Given the description of an element on the screen output the (x, y) to click on. 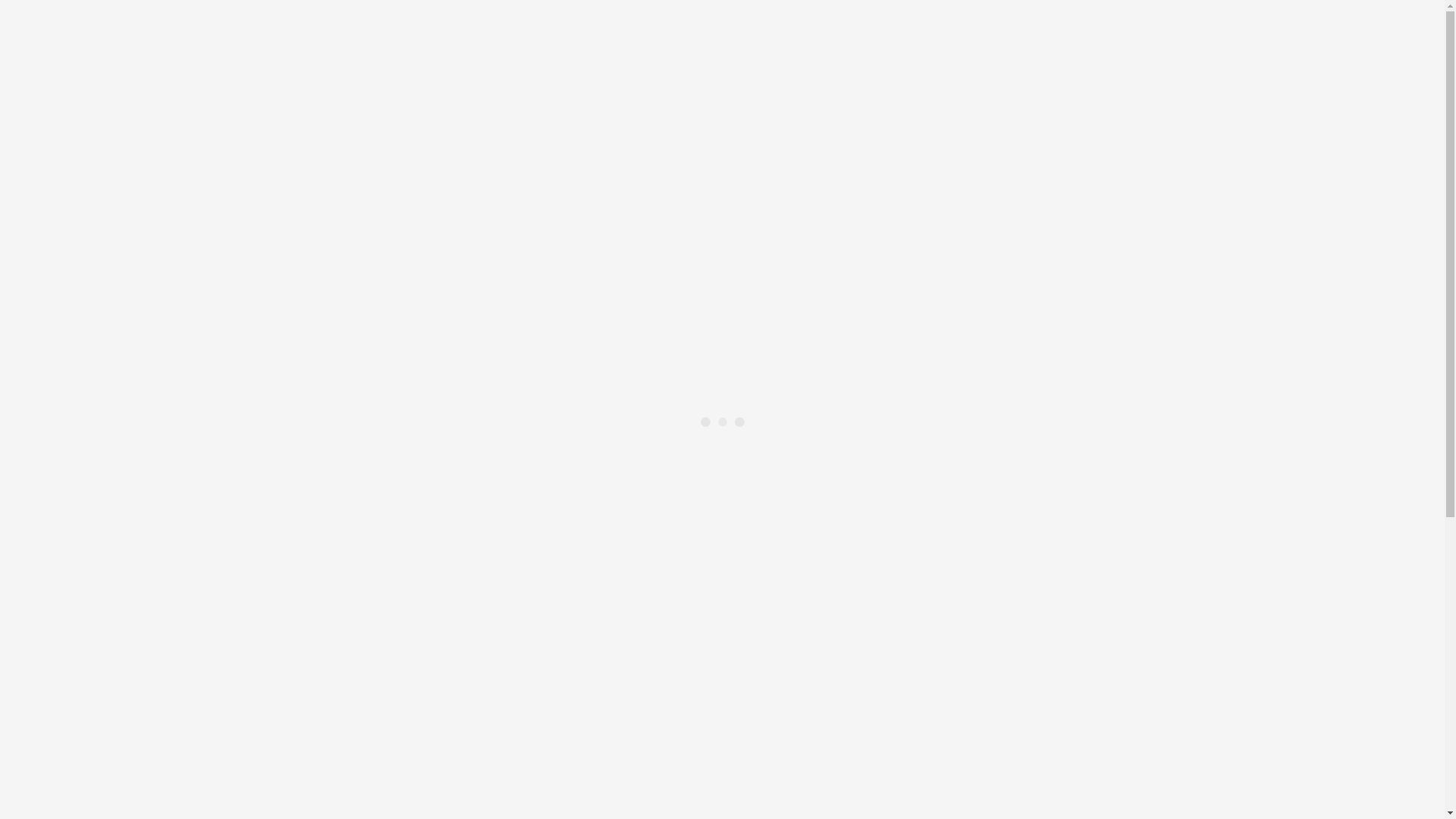
PLAN DE LA COMMUNE Element type: text (134, 517)
Fermer la barre des infos flash Element type: hover (12, 114)
ACTIONS SOCIALES Element type: text (93, 667)
FOYER RURAL Element type: text (108, 790)
CONCILIATEUR DE JUSTICE Element type: text (145, 366)
CONTACT Element type: text (64, 149)
INFORMATIONS PRATIQUES Element type: text (115, 216)
PATRIMOINE Element type: text (102, 599)
Les manoirs Element type: text (126, 612)
La fontaine de St-Ergat Element type: text (153, 626)
CDAS DE SAINT-RENAN Element type: text (133, 708)
RECENSEMENT MILITAIRE Element type: text (142, 257)
COMPTES RENDUS CONSEIL MUNICIPAL Element type: text (181, 489)
SPANC Element type: text (115, 326)
CLUB DE ST-ERGAT Element type: text (121, 776)
02 98 89 21 55 Element type: text (72, 135)
AIDE ALIMENTAIRE Element type: text (122, 721)
URBANISME Element type: text (102, 271)
ENVIRONNEMENT Element type: text (118, 380)
Les calvaires Element type: text (128, 653)
LA COMMUNE Element type: text (77, 503)
CARTE COMMUNALE Element type: text (157, 285)
ASSOCIATIONS Element type: text (79, 749)
DEMARCHES EN LIGNE Element type: text (133, 230)
Les moulins Element type: text (126, 639)
SAISINE PAR VOIE ELECTRONIQUE Element type: text (196, 298)
